Given the description of an element on the screen output the (x, y) to click on. 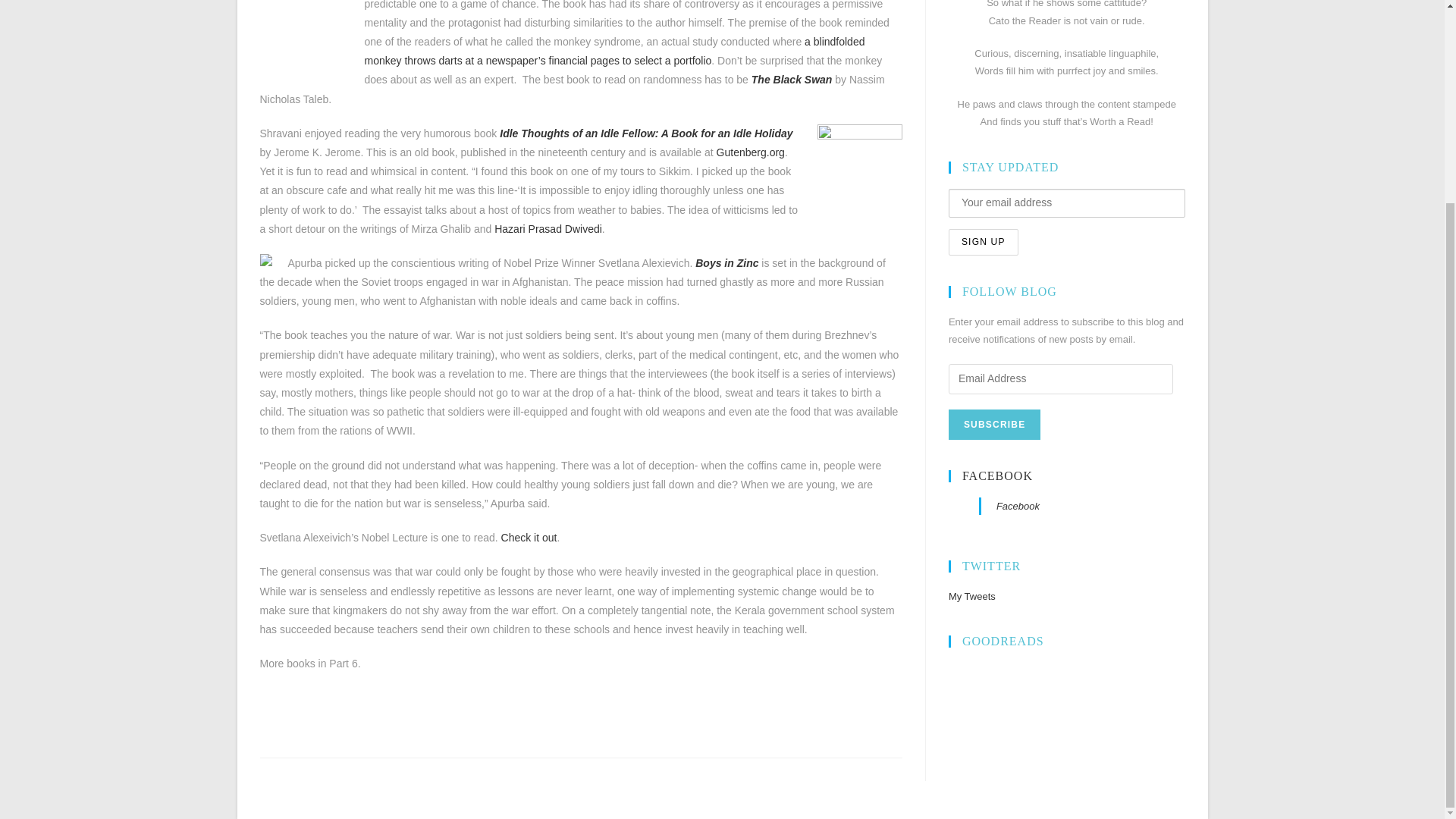
Facebook (1017, 505)
The Black Swan (791, 79)
Check it out (528, 537)
Boys in Zinc (726, 263)
Sign up (983, 242)
Subscribe (995, 424)
Idle Thoughts of an Idle Fellow: A Book for an Idle Holiday (644, 133)
Sign up (983, 242)
My Tweets (972, 595)
FACEBOOK (997, 475)
